Given the description of an element on the screen output the (x, y) to click on. 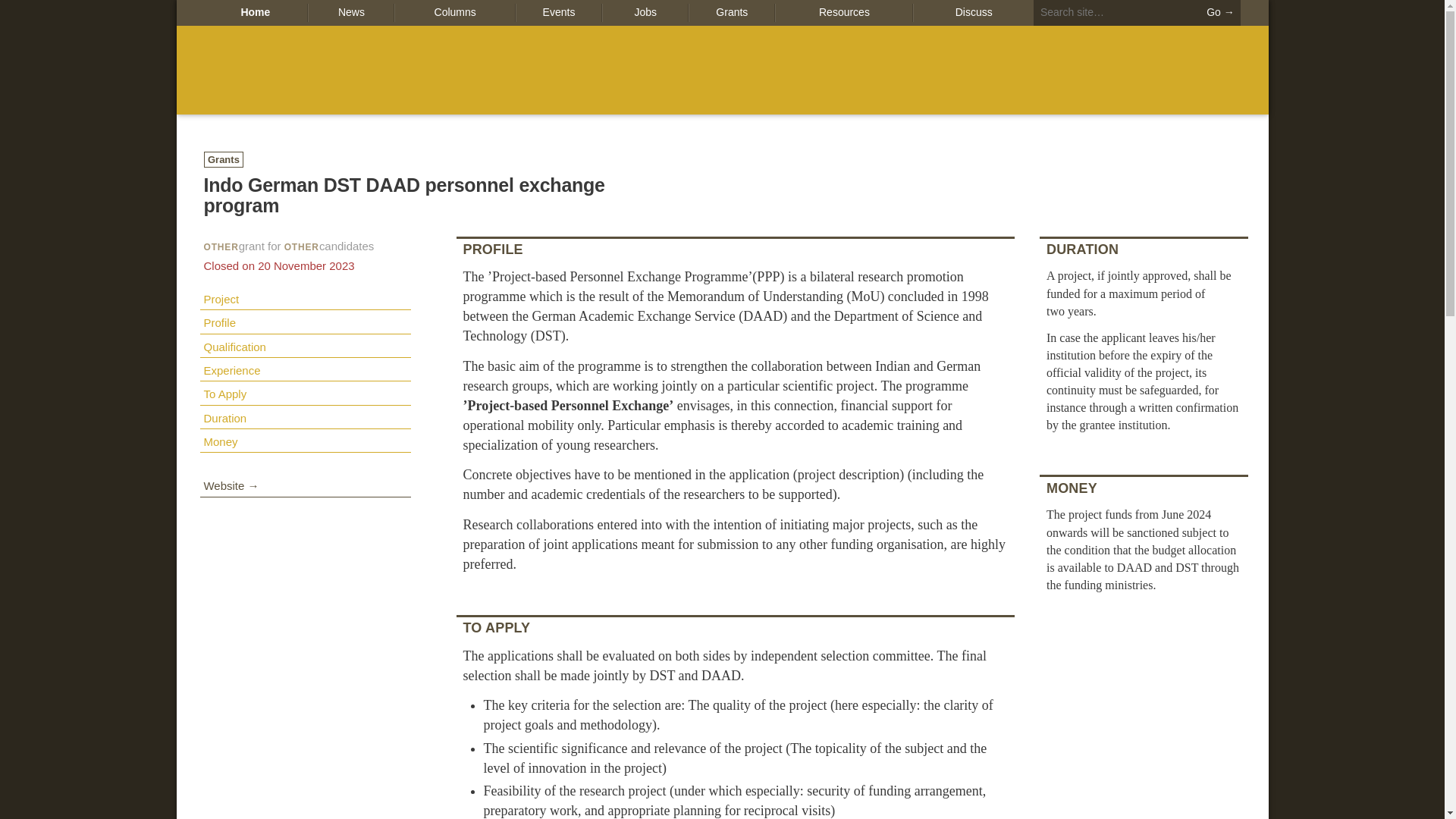
OTHER (220, 246)
Grants (731, 12)
20 November 2023 (278, 265)
Twitter (211, 532)
Columns (453, 12)
Qualification (305, 345)
Facebook (258, 532)
Whatsapp (283, 532)
News (350, 12)
IndiaBioscience (721, 69)
